Given the description of an element on the screen output the (x, y) to click on. 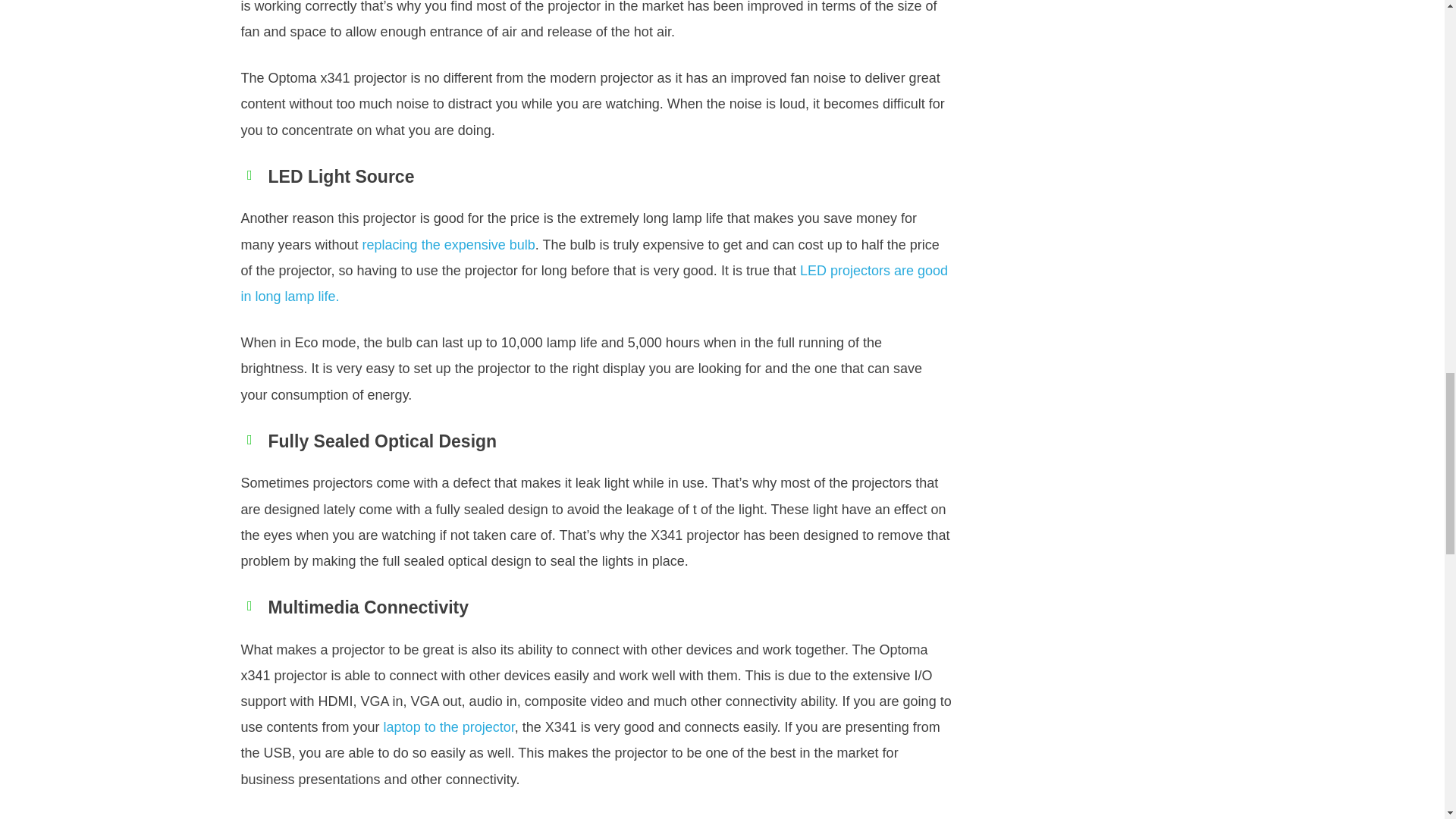
LED projectors are good in long lamp life. (595, 282)
replacing the expensive bulb (448, 244)
laptop to the projector (449, 726)
